Given the description of an element on the screen output the (x, y) to click on. 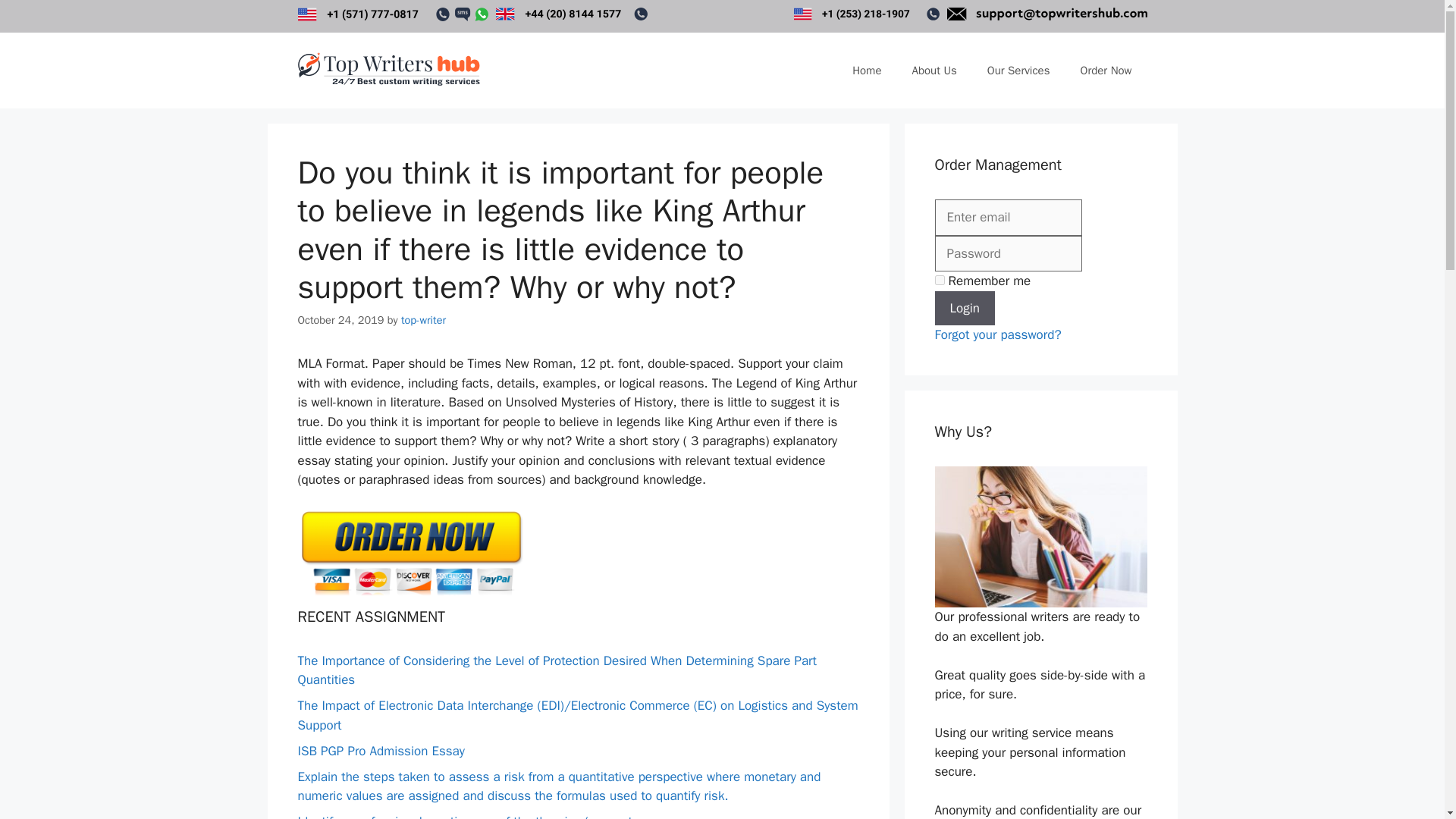
top-writer (423, 319)
click to Login (964, 308)
Home (866, 70)
Recover password (997, 334)
Our Services (1018, 70)
Order Now (1105, 70)
on (938, 280)
Forgot your password? (997, 334)
About Us (933, 70)
Login (964, 308)
View all posts by top-writer (423, 319)
ISB PGP Pro Admission Essay (380, 750)
